Given the description of an element on the screen output the (x, y) to click on. 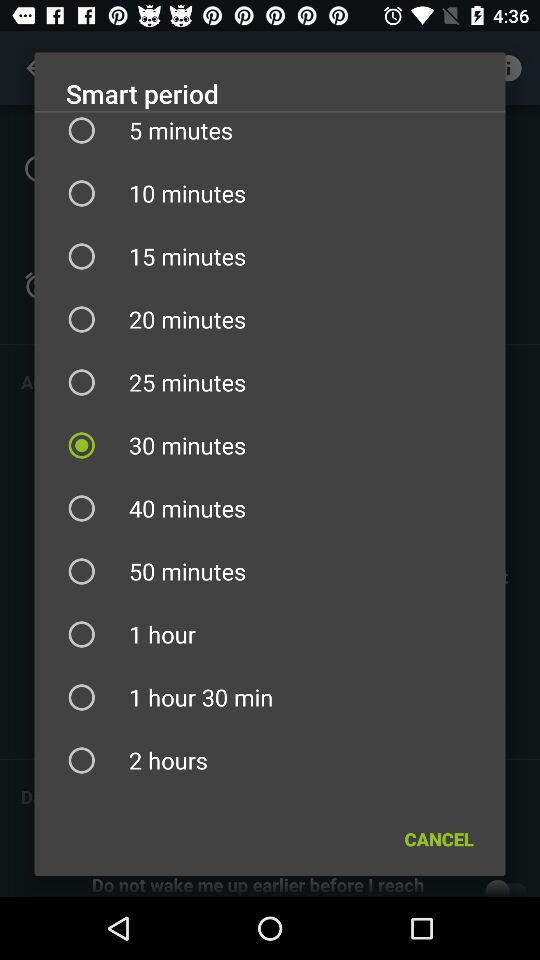
launch cancel (438, 838)
